Given the description of an element on the screen output the (x, y) to click on. 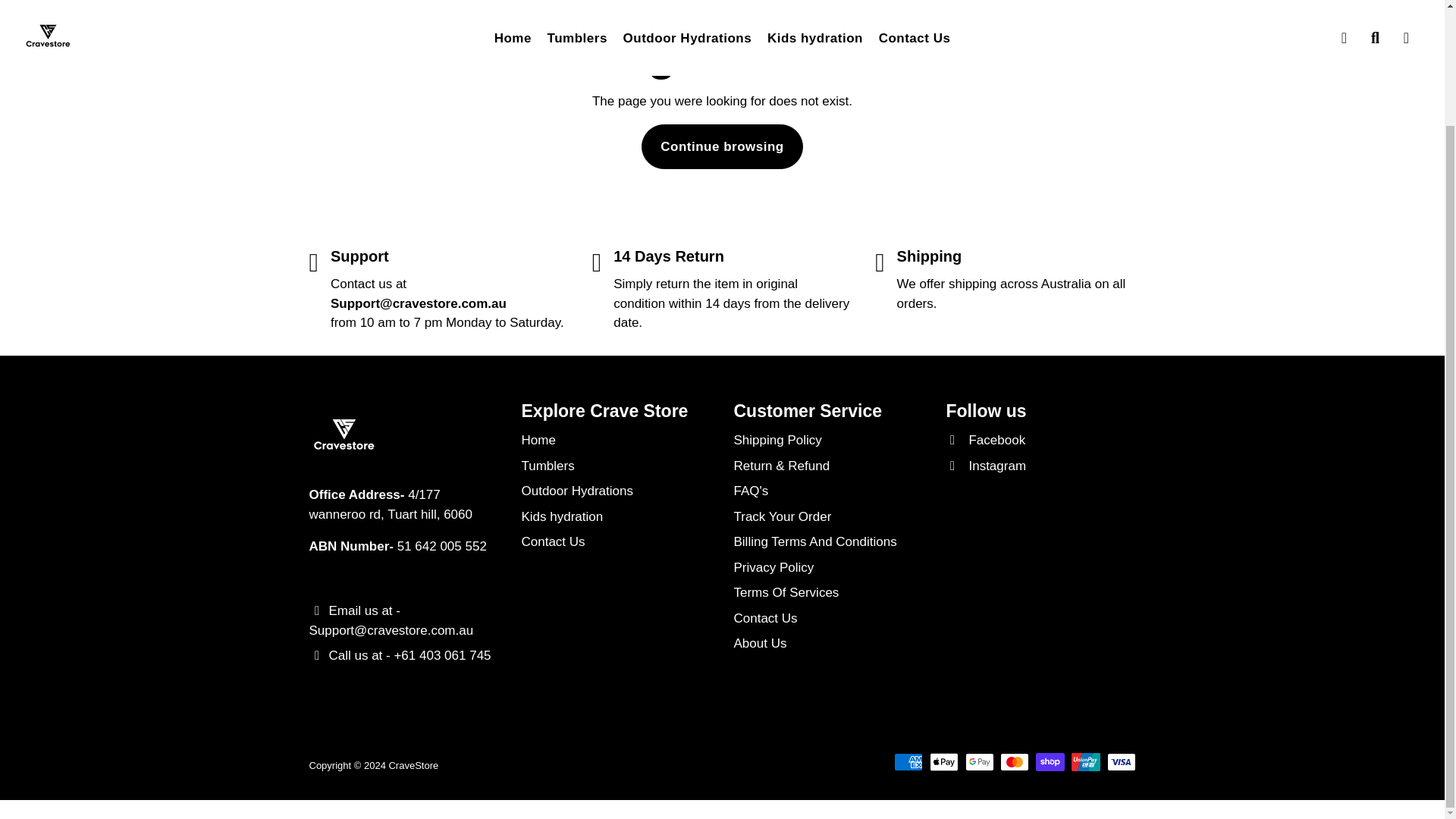
Google Pay (979, 761)
Apple Pay (944, 761)
Visa (1120, 761)
Mastercard (1014, 761)
Home (538, 440)
CraveStore on Instagram (986, 465)
Union Pay (1085, 761)
CraveStore on Facebook (986, 440)
American Express (908, 761)
Shop Pay (1049, 761)
Continue browsing (722, 146)
